Given the description of an element on the screen output the (x, y) to click on. 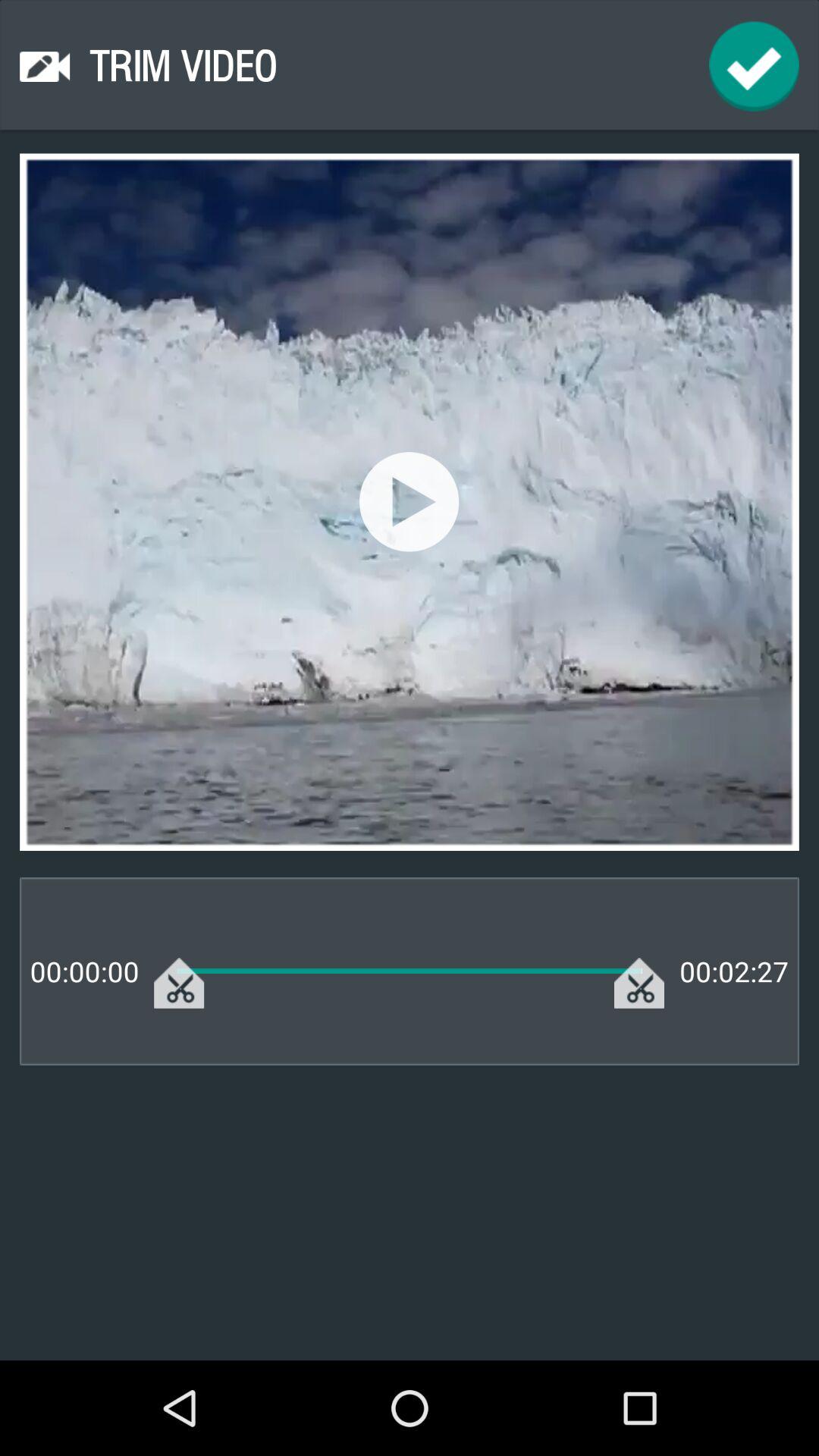
hit play (408, 501)
